Given the description of an element on the screen output the (x, y) to click on. 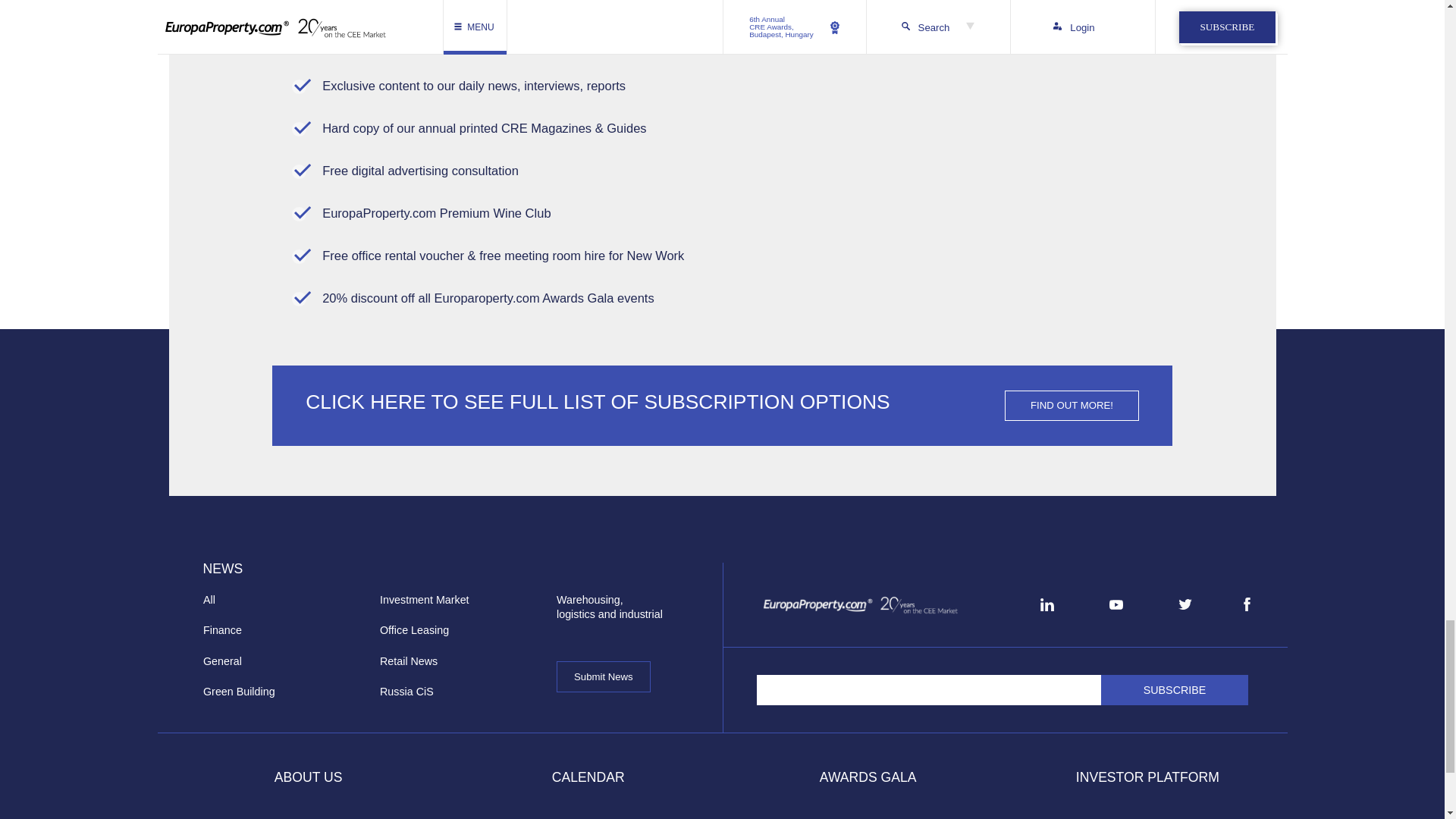
YouTube (1116, 604)
Twitter (1184, 604)
Subscribe (1174, 689)
LinkedIn (1047, 604)
